Given the description of an element on the screen output the (x, y) to click on. 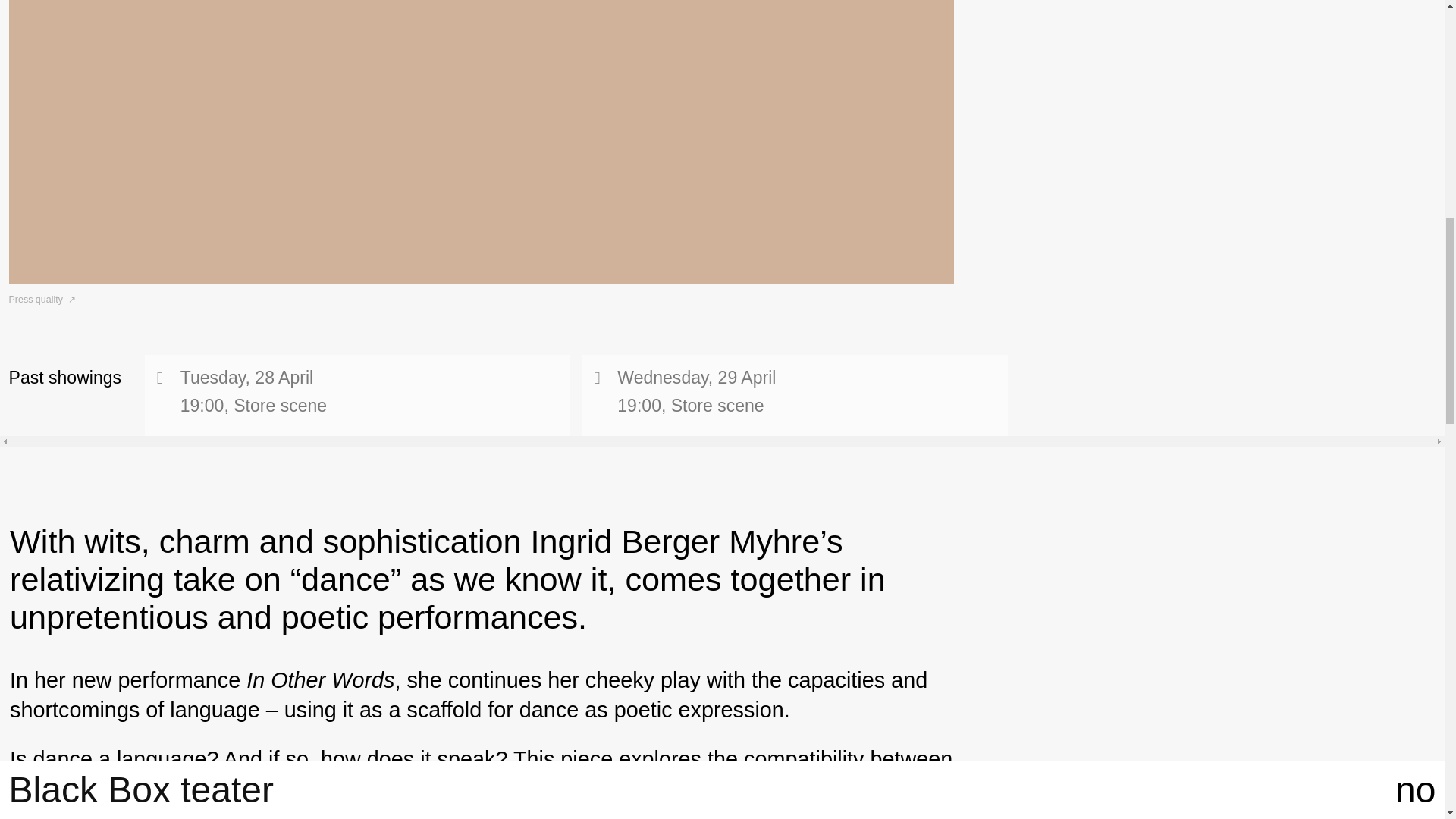
: download in press quality (41, 299)
